Given the description of an element on the screen output the (x, y) to click on. 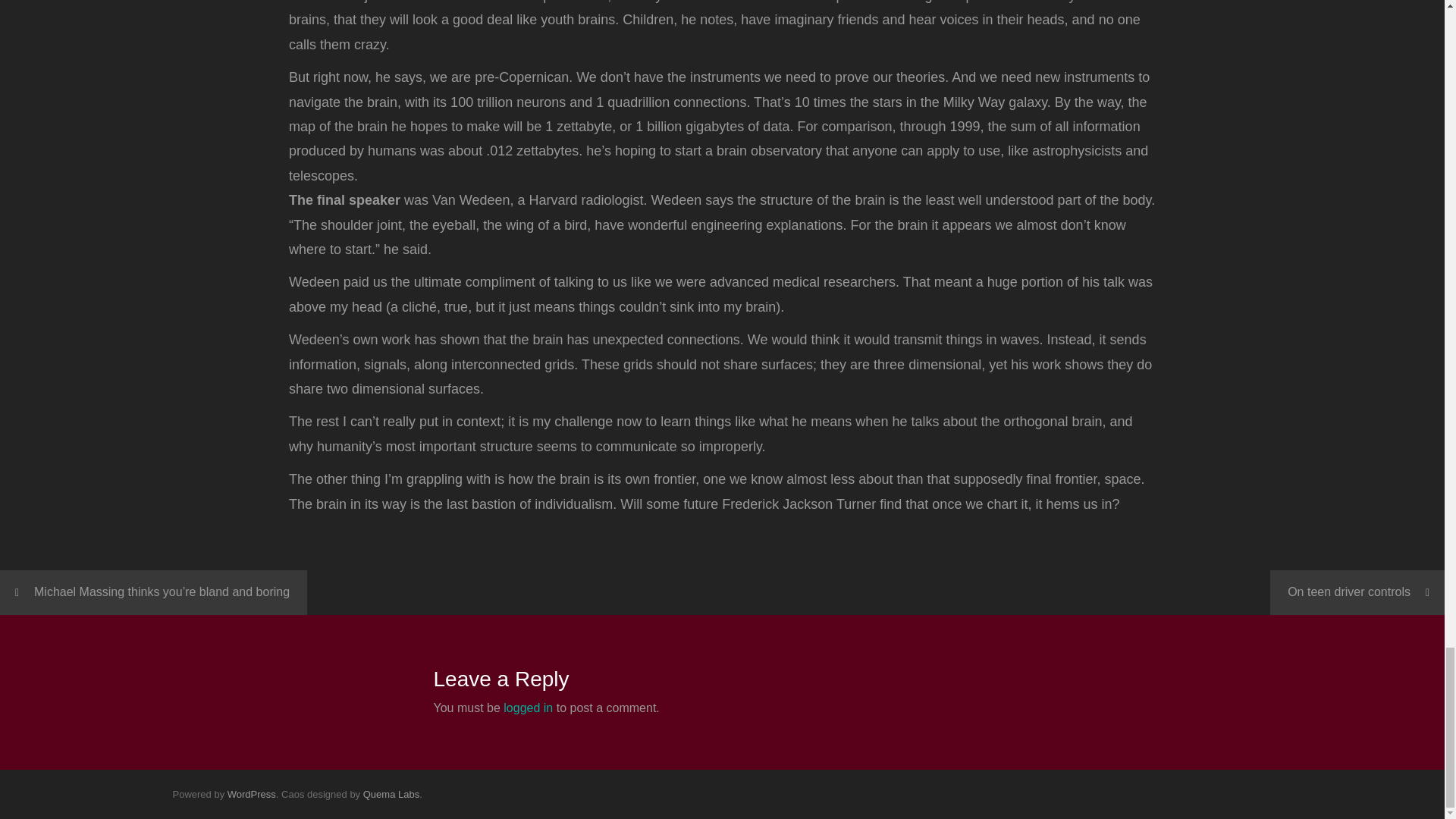
WordPress (251, 794)
logged in (528, 707)
Quema Labs (390, 794)
